Given the description of an element on the screen output the (x, y) to click on. 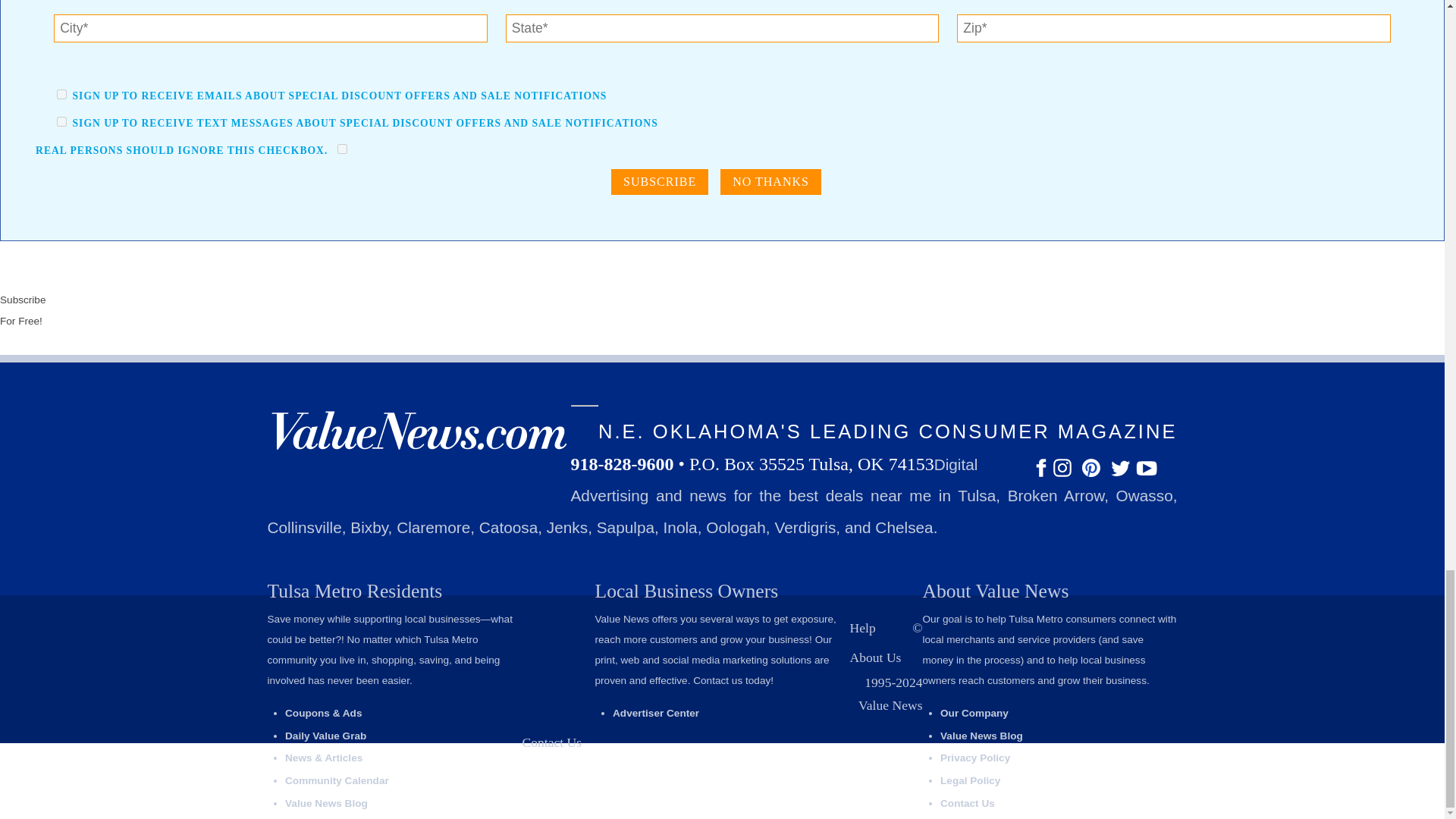
1 (61, 94)
1 (61, 121)
1 (342, 148)
Subscribe (659, 181)
No Thanks (770, 181)
